Given the description of an element on the screen output the (x, y) to click on. 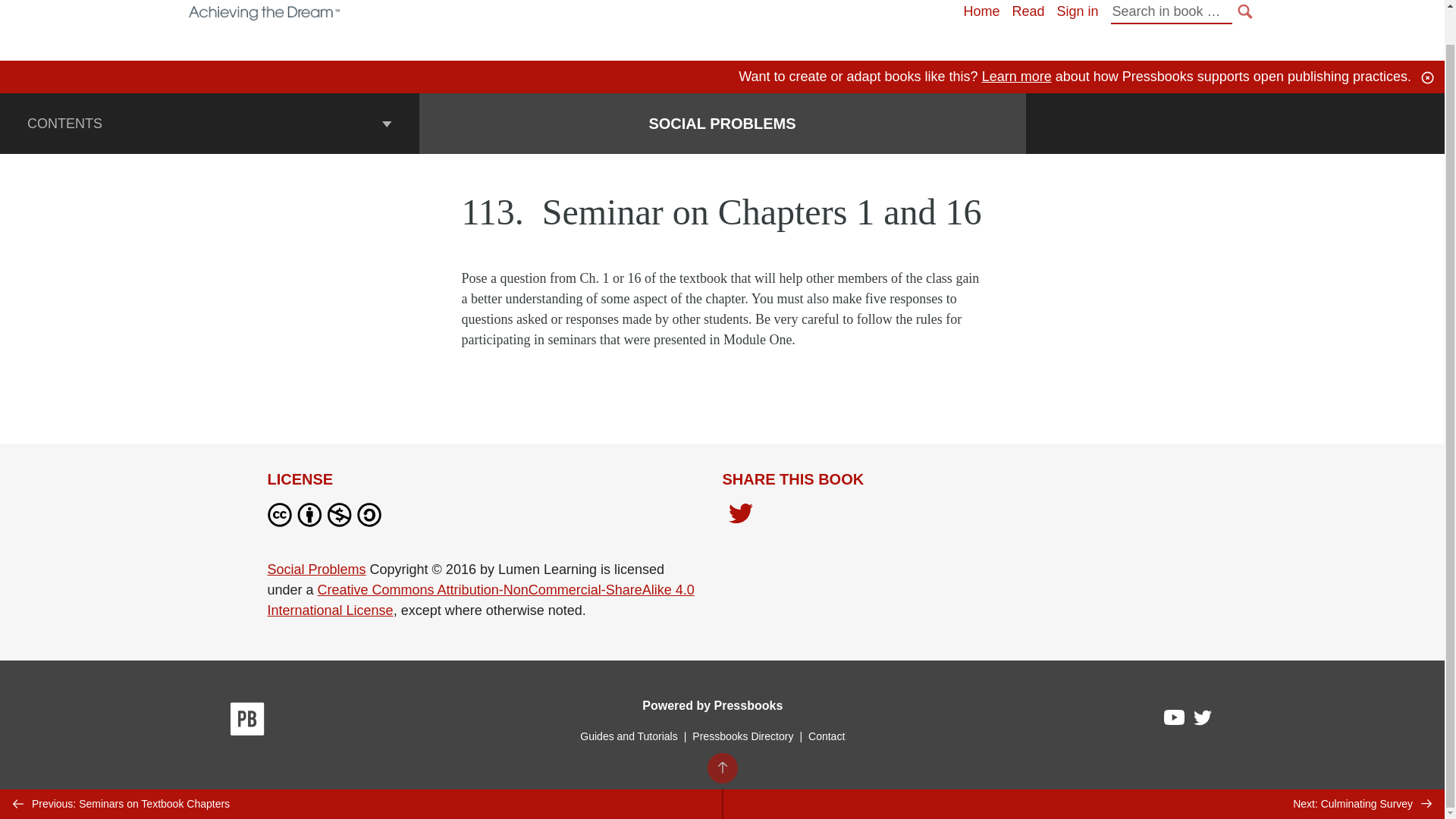
Sign in (1077, 11)
Share on Twitter (740, 514)
Read (1027, 11)
Previous: Seminars on Textbook Chapters (361, 767)
Learn more (1016, 76)
Pressbooks on YouTube (1174, 721)
Social Problems (315, 569)
BACK TO TOP (721, 732)
Home (980, 11)
Share on Twitter (740, 517)
Guides and Tutorials (627, 736)
Contact (826, 736)
CONTENTS (209, 123)
Pressbooks Directory (742, 736)
